Given the description of an element on the screen output the (x, y) to click on. 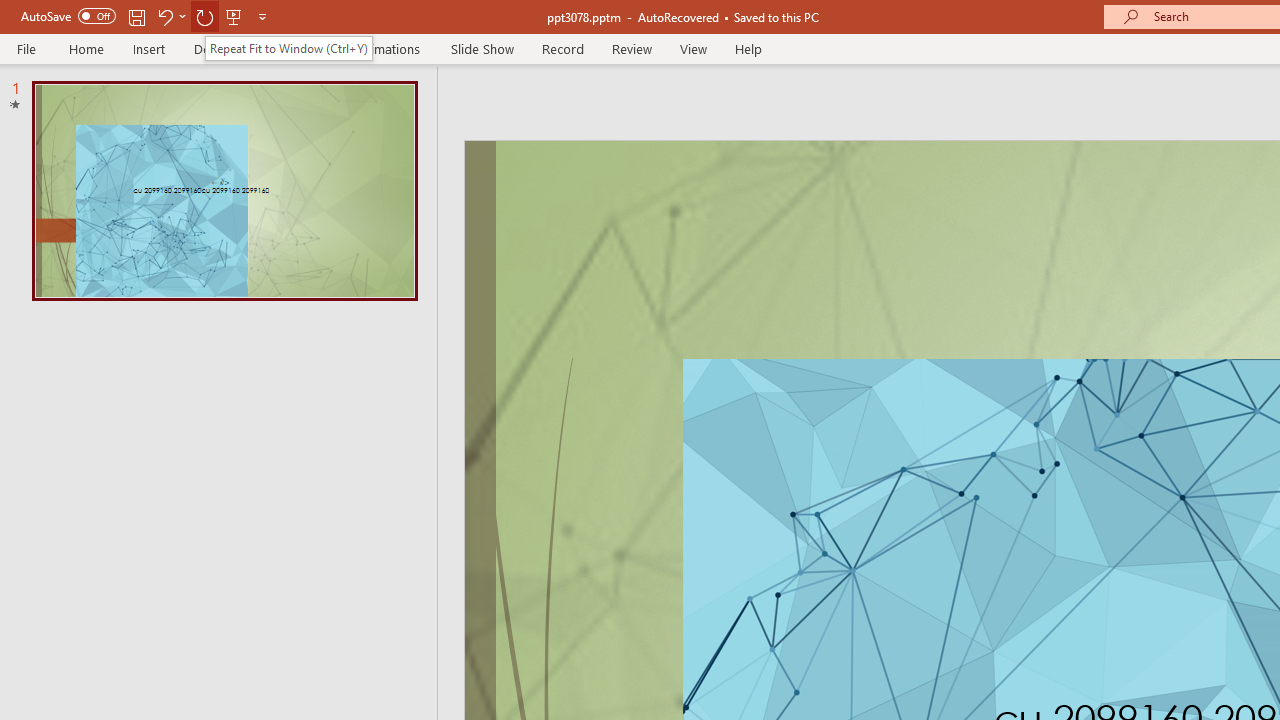
Repeat Fit to Window (Ctrl+Y) (288, 48)
